Given the description of an element on the screen output the (x, y) to click on. 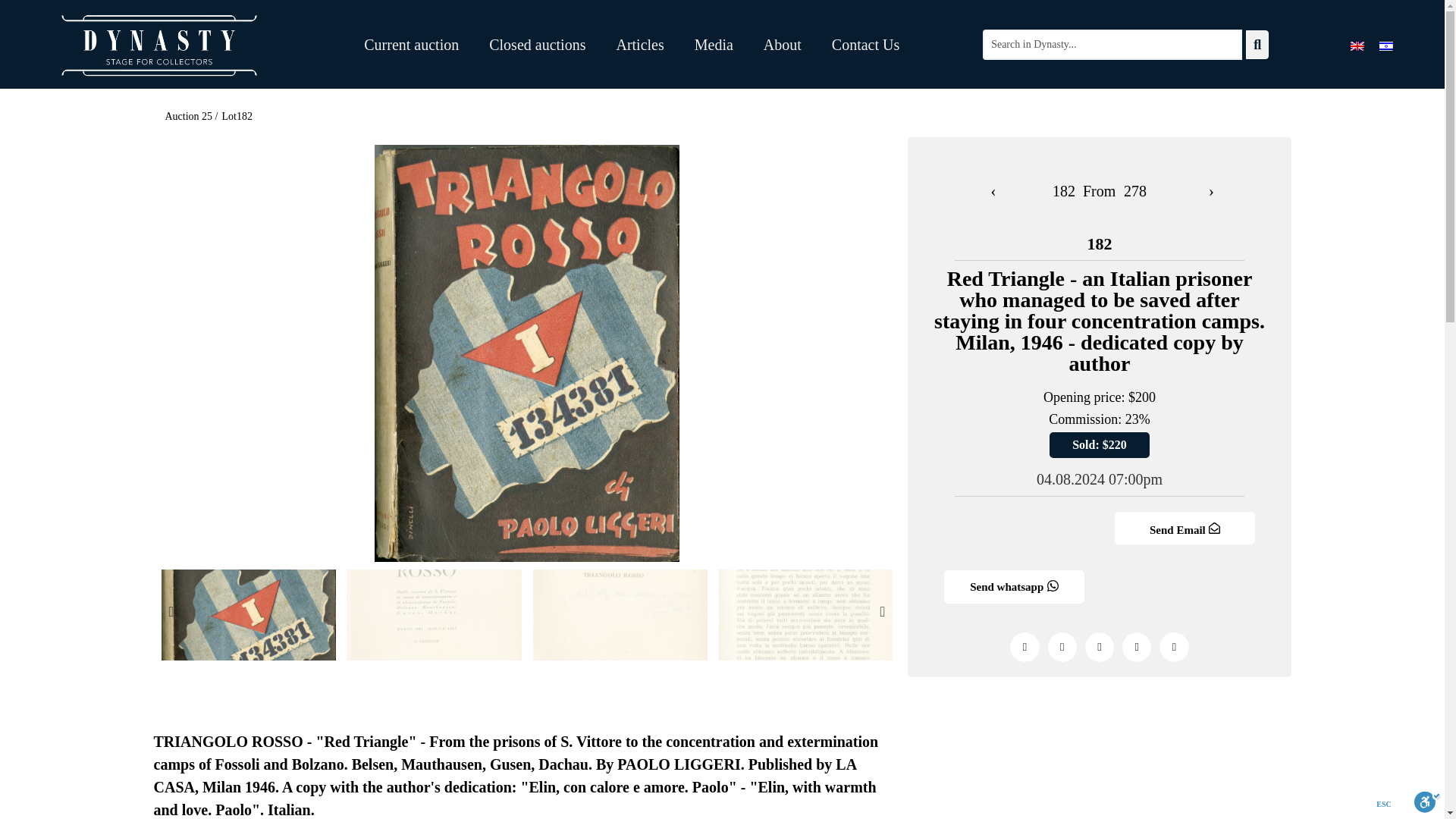
Contact Us (865, 44)
Media (713, 44)
001-318.jpg (247, 614)
004-107.jpg (806, 614)
003-119.jpg (619, 614)
Current auction (411, 44)
002-162.jpg (434, 614)
Closed auctions (536, 44)
Articles (638, 44)
About (782, 44)
